Given the description of an element on the screen output the (x, y) to click on. 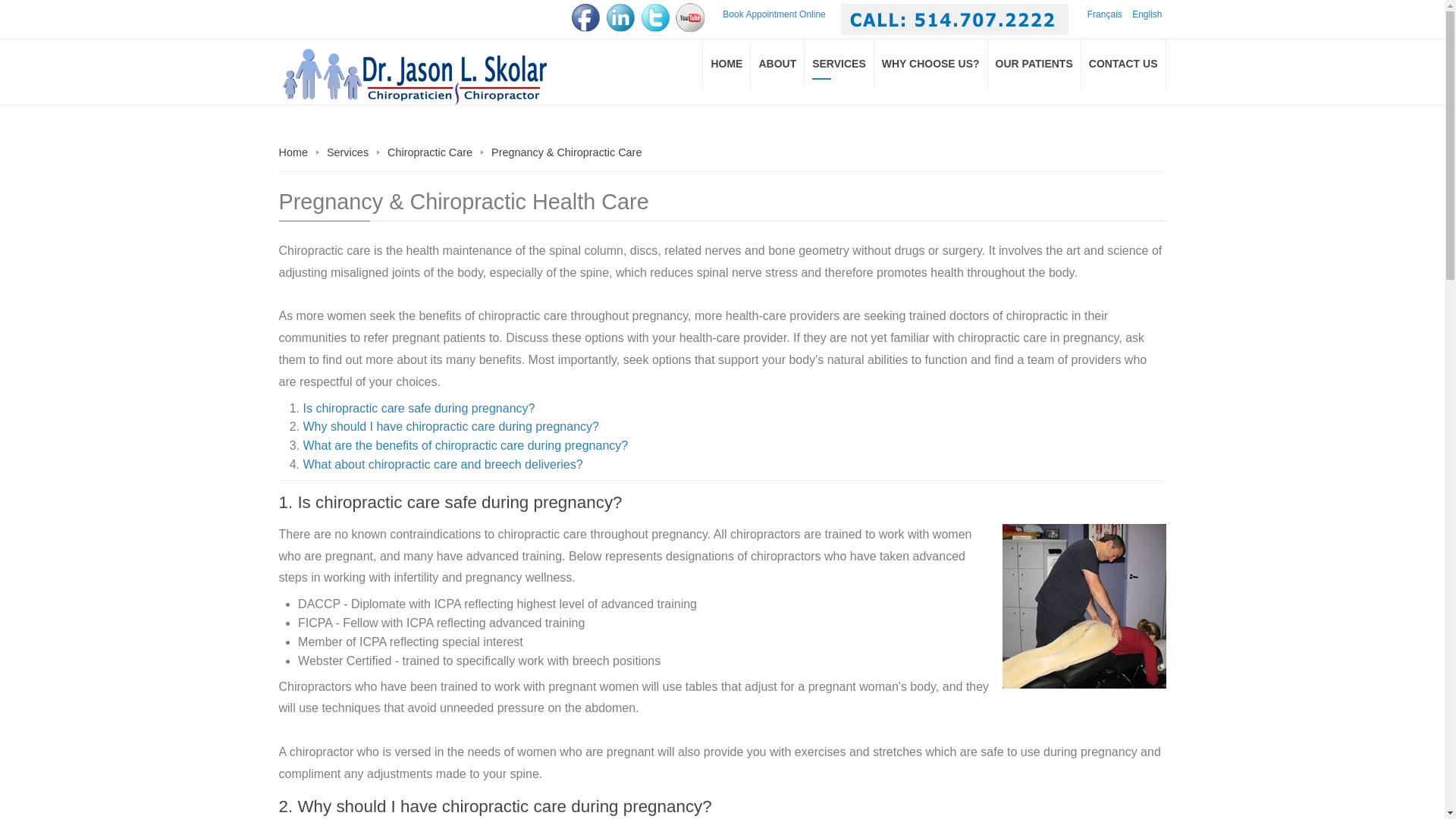
Call: 514.707.2222 (954, 19)
WHY CHOOSE US? (931, 63)
Book Appointment Online (773, 14)
Facebook (584, 17)
SERVICES (840, 63)
ABOUT (778, 63)
CONTACT US (1123, 63)
English (1146, 14)
YouTube (689, 17)
OUR PATIENTS (1034, 63)
